Given the description of an element on the screen output the (x, y) to click on. 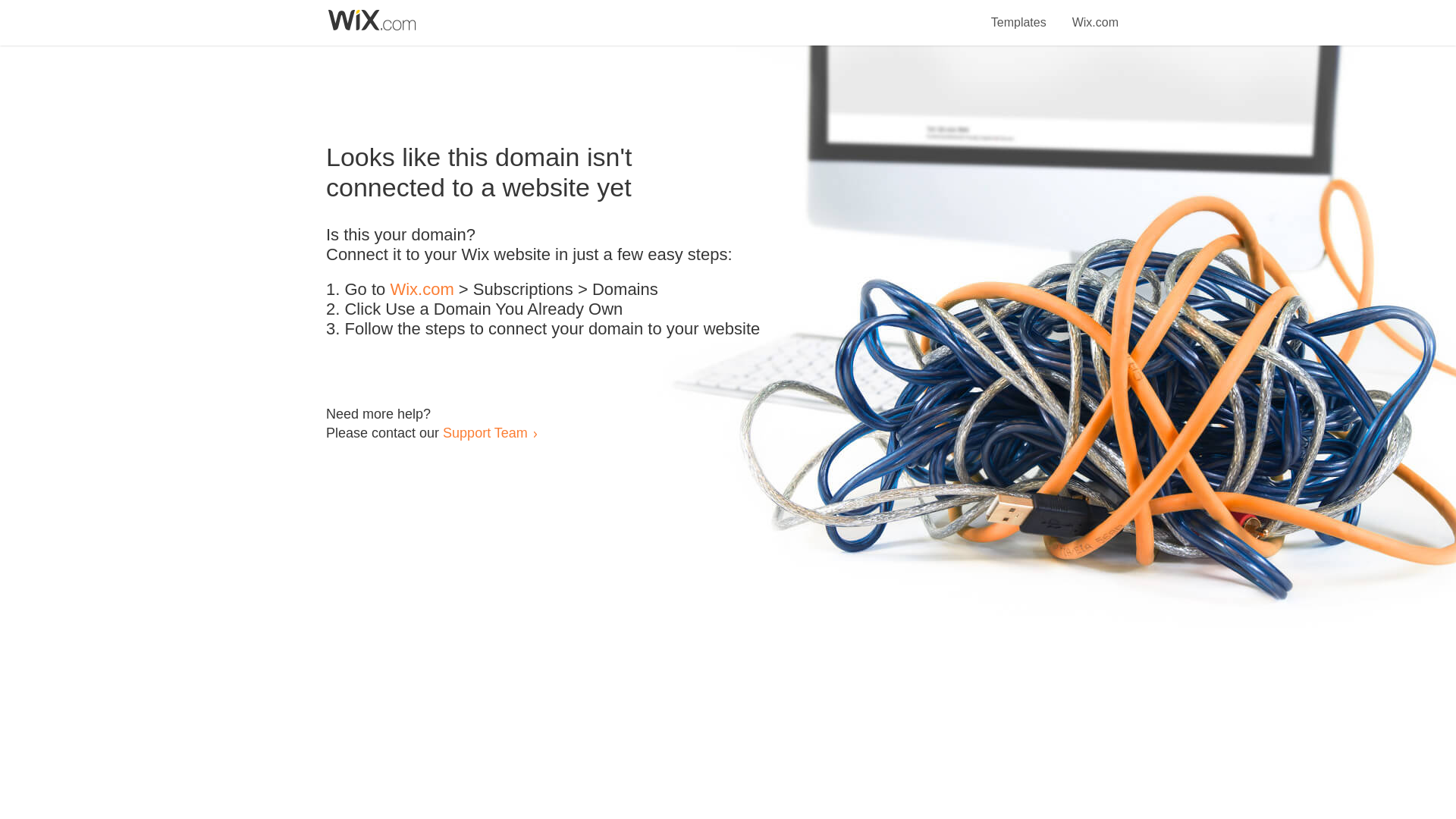
Wix.com (421, 289)
Wix.com (1095, 14)
Templates (1018, 14)
Support Team (484, 432)
